Given the description of an element on the screen output the (x, y) to click on. 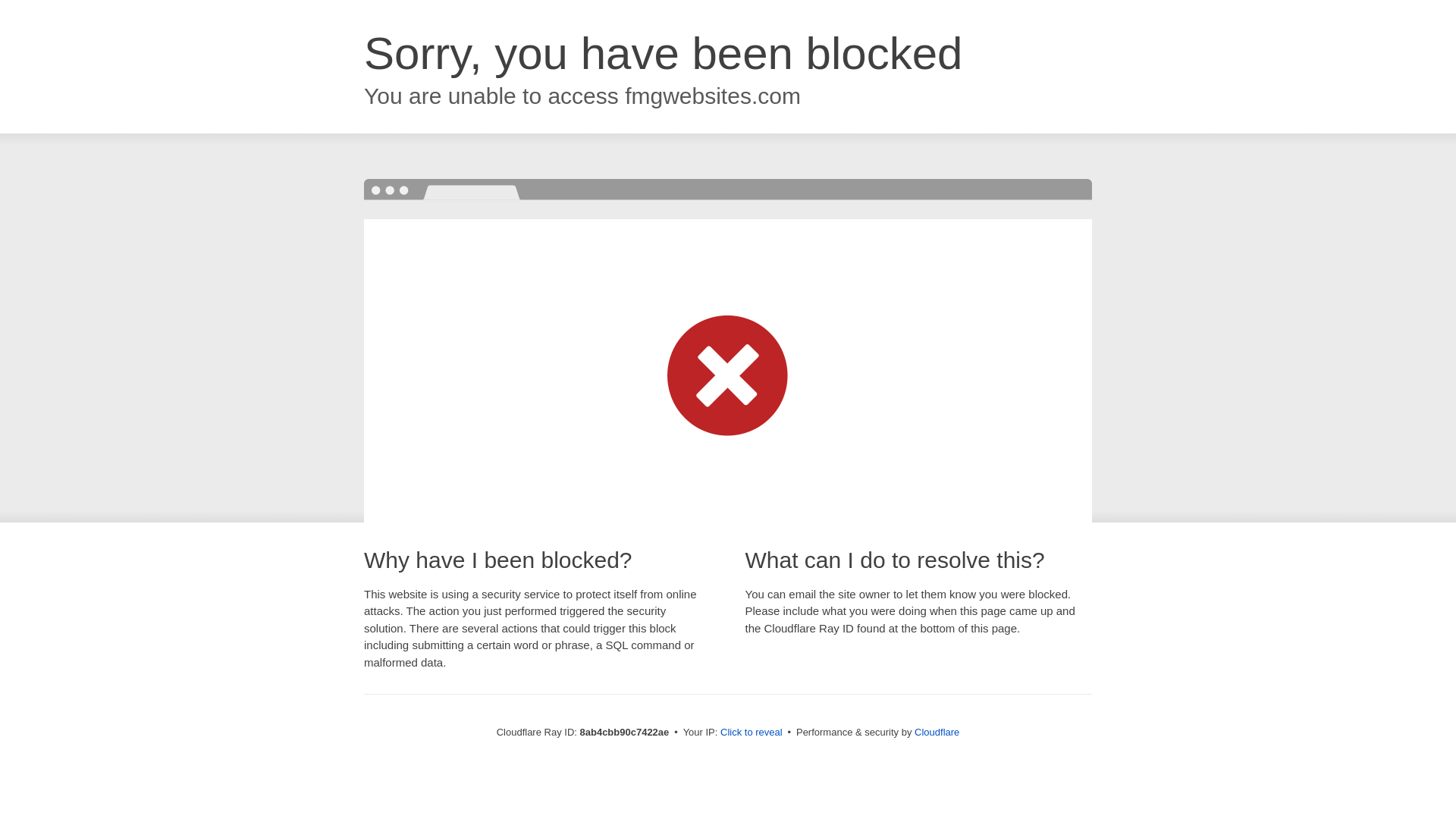
Cloudflare (936, 731)
Click to reveal (751, 732)
